Given the description of an element on the screen output the (x, y) to click on. 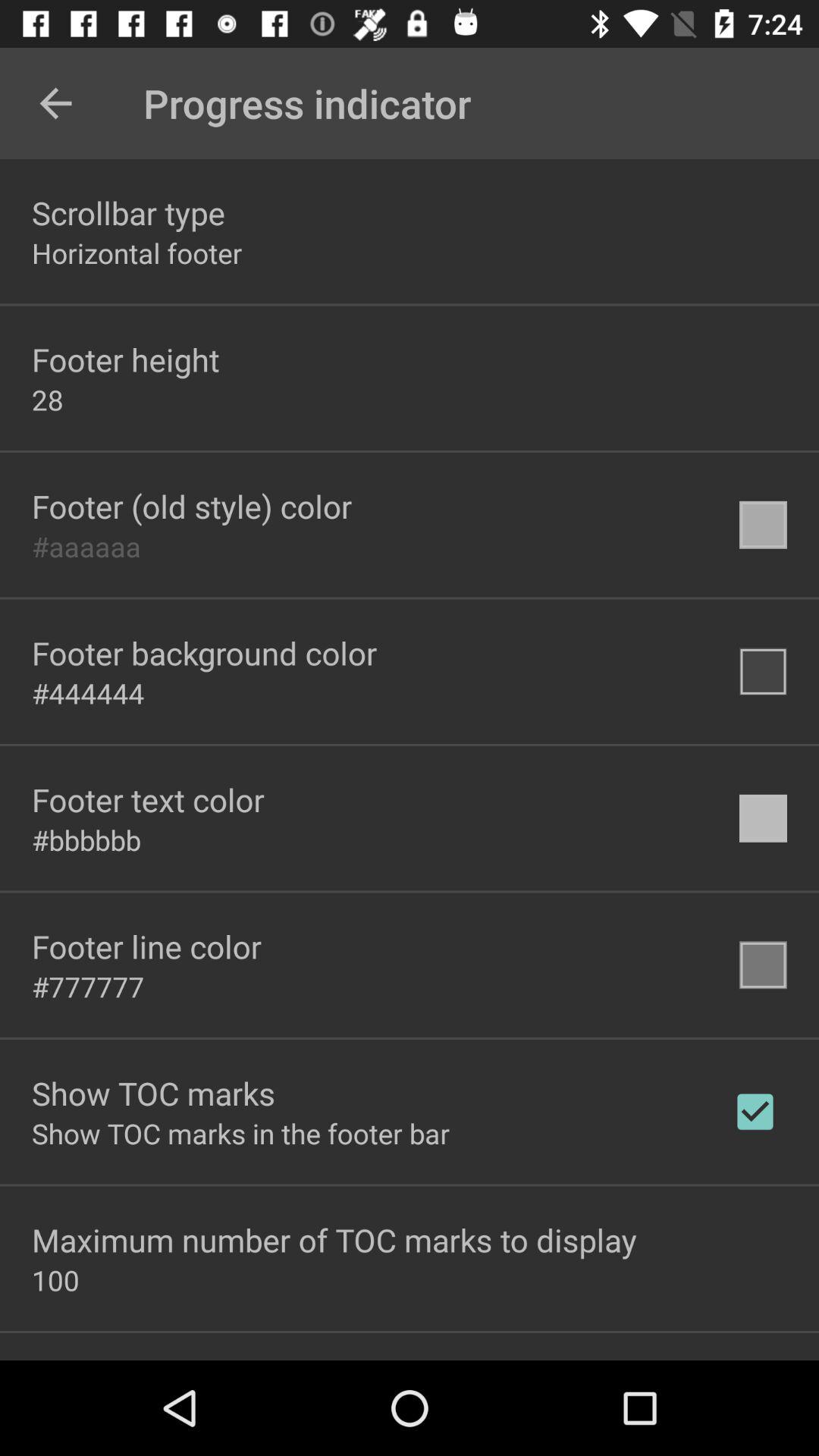
go back (55, 103)
